Given the description of an element on the screen output the (x, y) to click on. 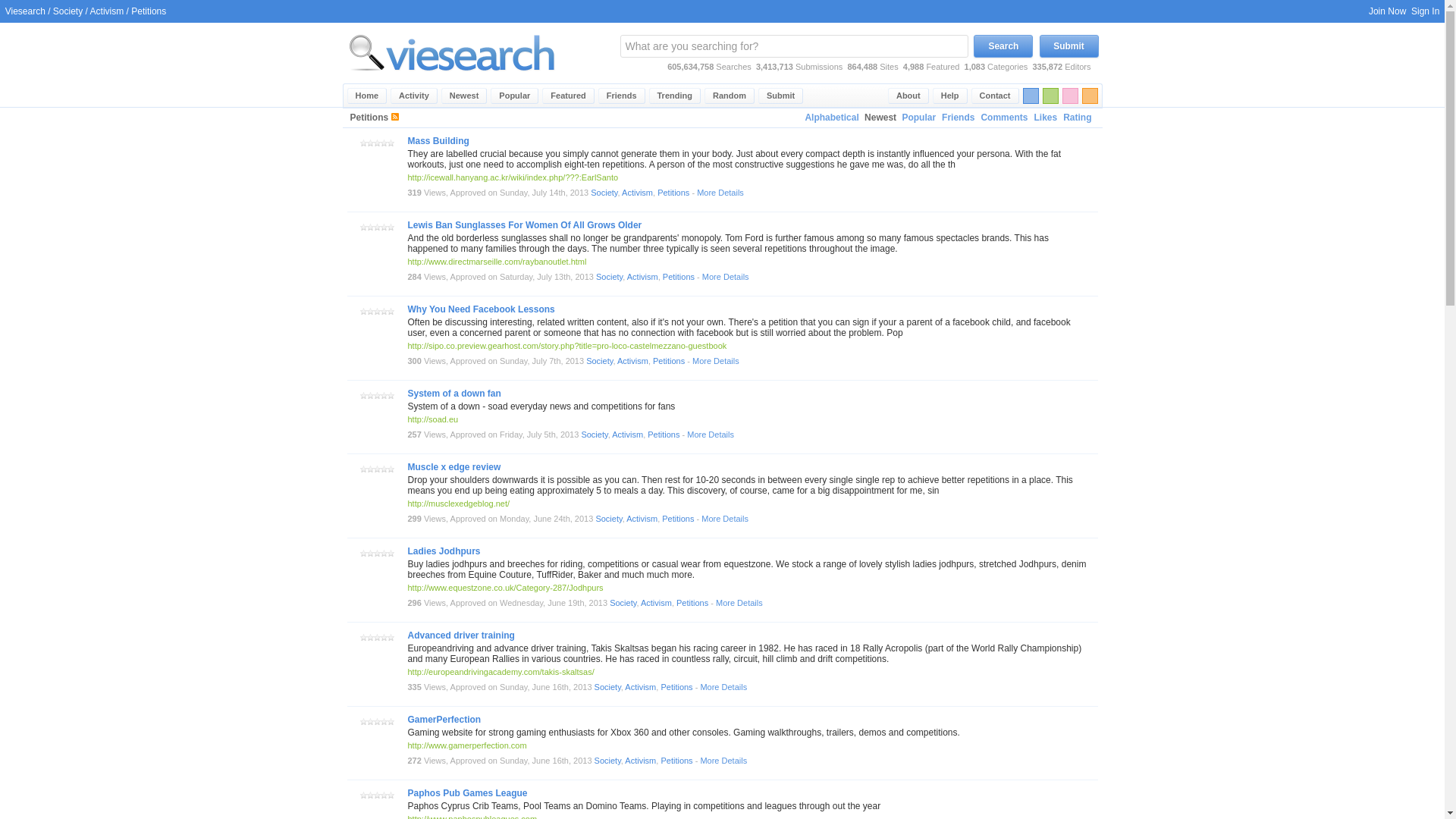
Help (950, 95)
Petitions (673, 192)
Create a Username (1387, 10)
Viesearch - Human Powered Search Engine (452, 80)
Some of our Lastest Referrers (621, 95)
Popular (514, 95)
Switch this page to green (1050, 95)
Featured (567, 95)
Alphabetical (831, 117)
Society (609, 276)
